Given the description of an element on the screen output the (x, y) to click on. 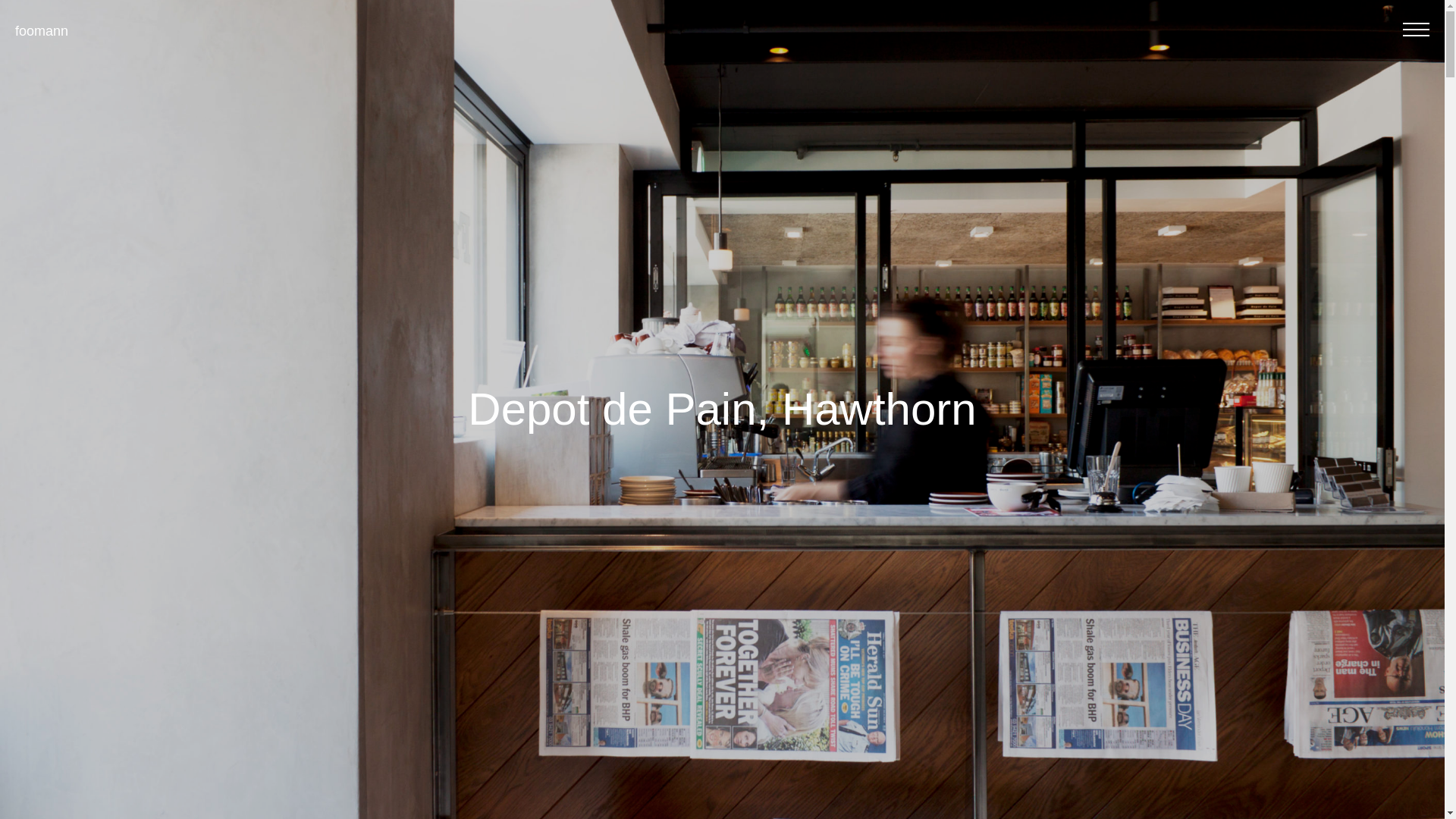
foomann Element type: text (41, 30)
